Given the description of an element on the screen output the (x, y) to click on. 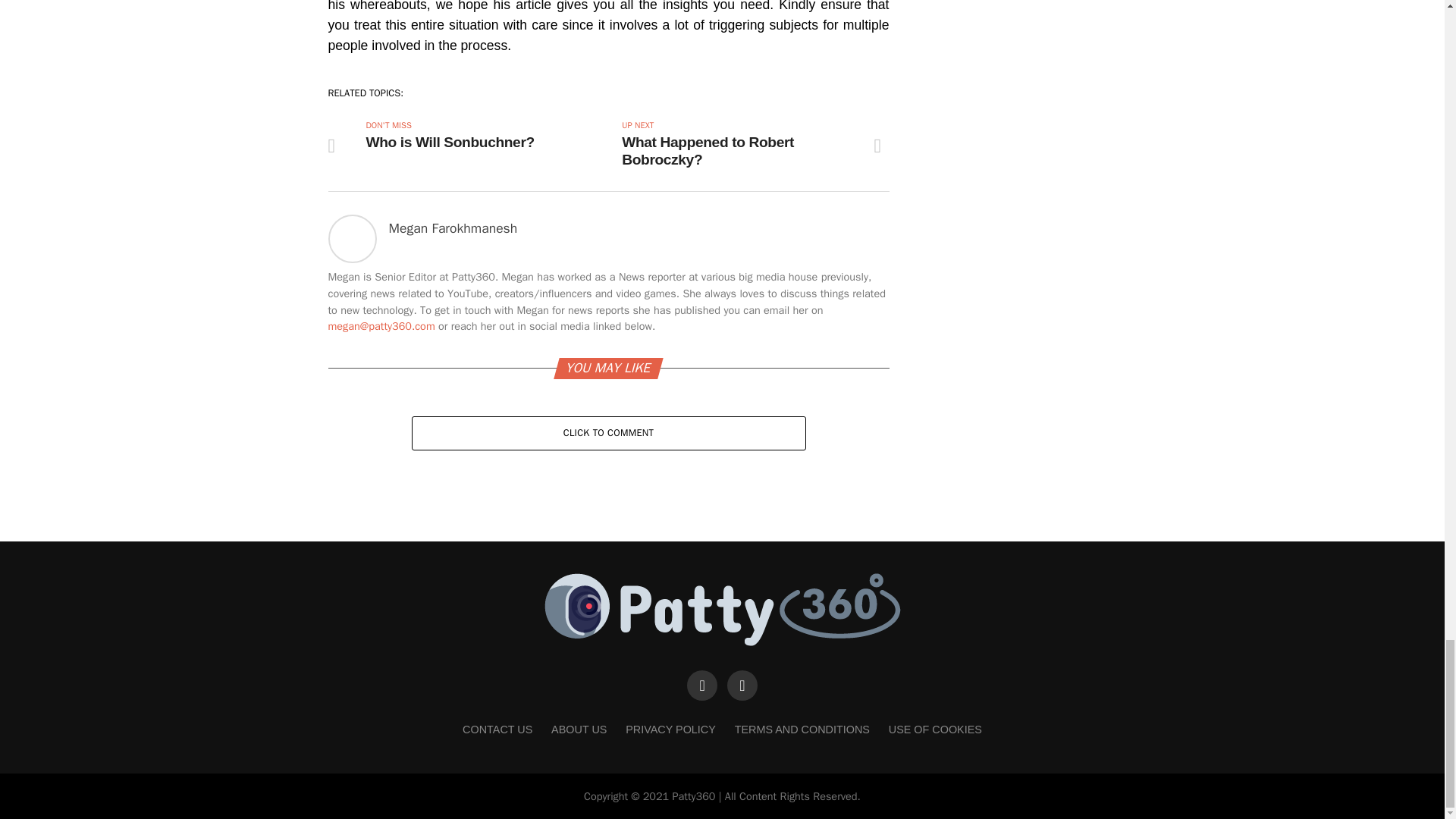
USE OF COOKIES (934, 729)
TERMS AND CONDITIONS (802, 729)
CONTACT US (497, 729)
Megan Farokhmanesh (452, 228)
ABOUT US (579, 729)
PRIVACY POLICY (671, 729)
Posts by Megan Farokhmanesh (452, 228)
